Given the description of an element on the screen output the (x, y) to click on. 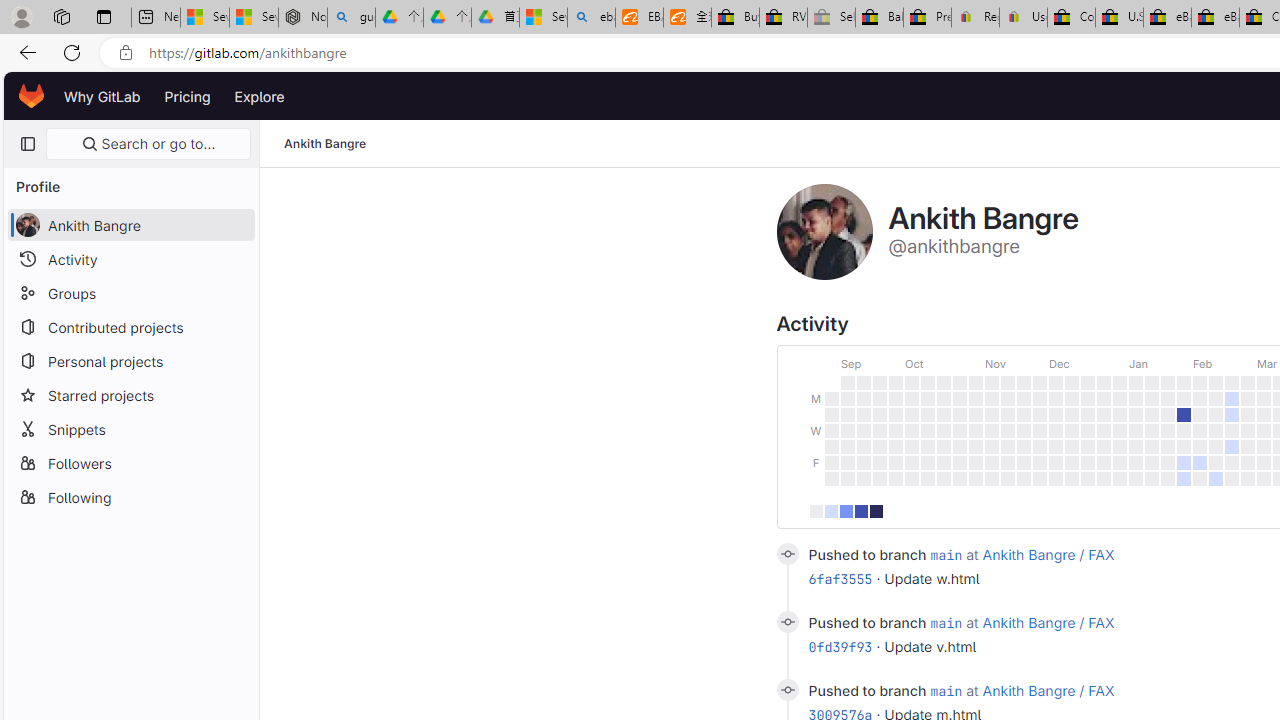
Sell worldwide with eBay - Sleeping (831, 17)
